Given the description of an element on the screen output the (x, y) to click on. 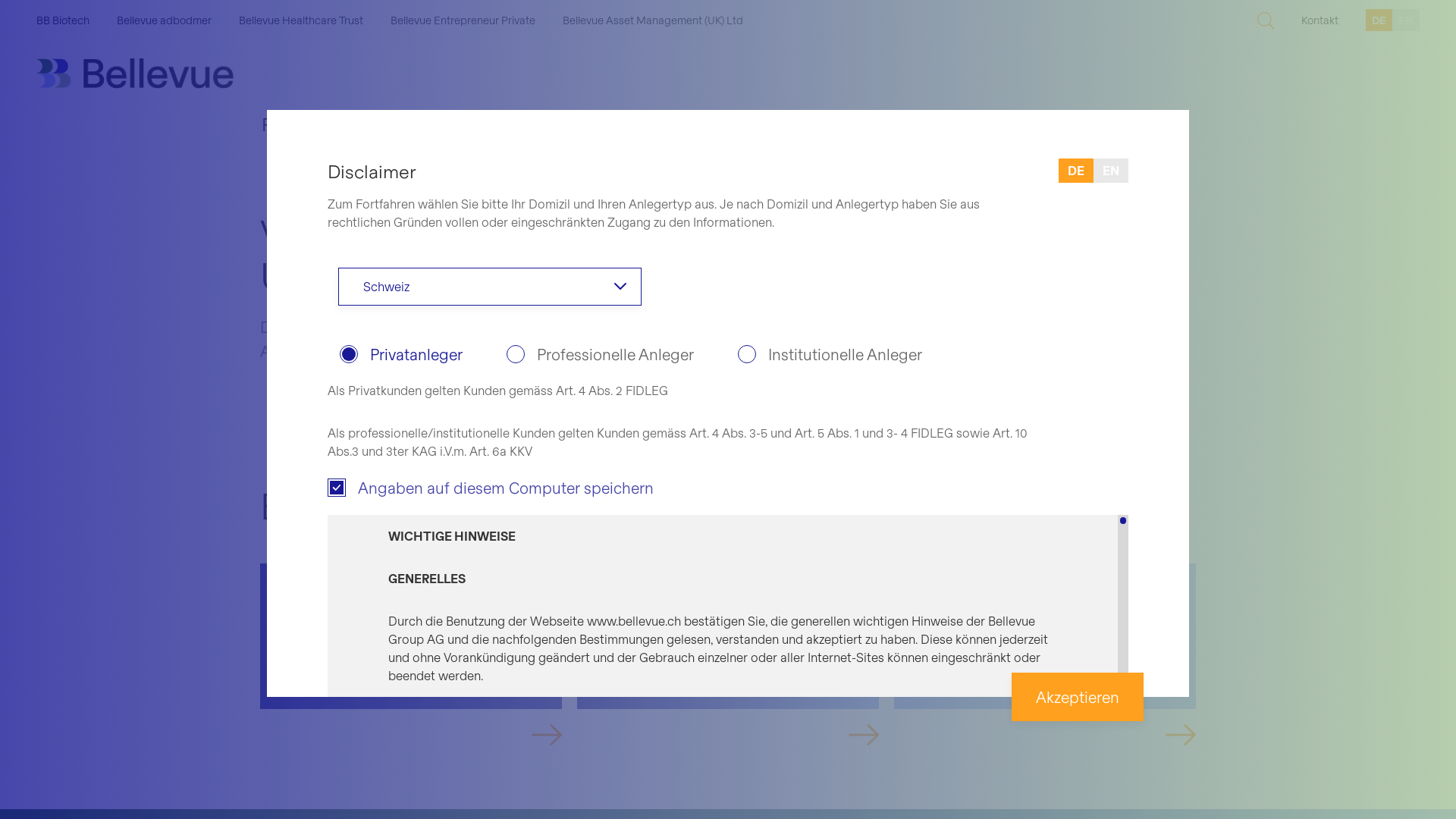
BB Biotech Element type: text (62, 19)
EN Element type: text (1110, 170)
Bellevue Asset Management (UK) Ltd Element type: text (652, 19)
EN Element type: text (1405, 20)
DE Element type: text (1378, 20)
Bellevue Healthcare Trust Element type: text (300, 19)
Insights / News
NAVIGIERE ZU SEITE Element type: text (410, 654)
Bellevue Entrepreneur Private Element type: text (462, 19)
NAVIGIERE ZU SEITE Element type: text (842, 727)
NAVIGIERE ZU SEITE Element type: text (1159, 727)
Akzeptieren Element type: text (1077, 696)
DE Element type: text (1075, 170)
Bellevue Group AG Element type: text (134, 73)
Investor Relations
NAVIGIERE ZU SEITE Element type: text (1044, 654)
Bellevue adbodmer Element type: text (163, 19)
Kontakt Element type: text (1319, 19)
NAVIGIERE ZU SEITE Element type: text (525, 727)
